Given the description of an element on the screen output the (x, y) to click on. 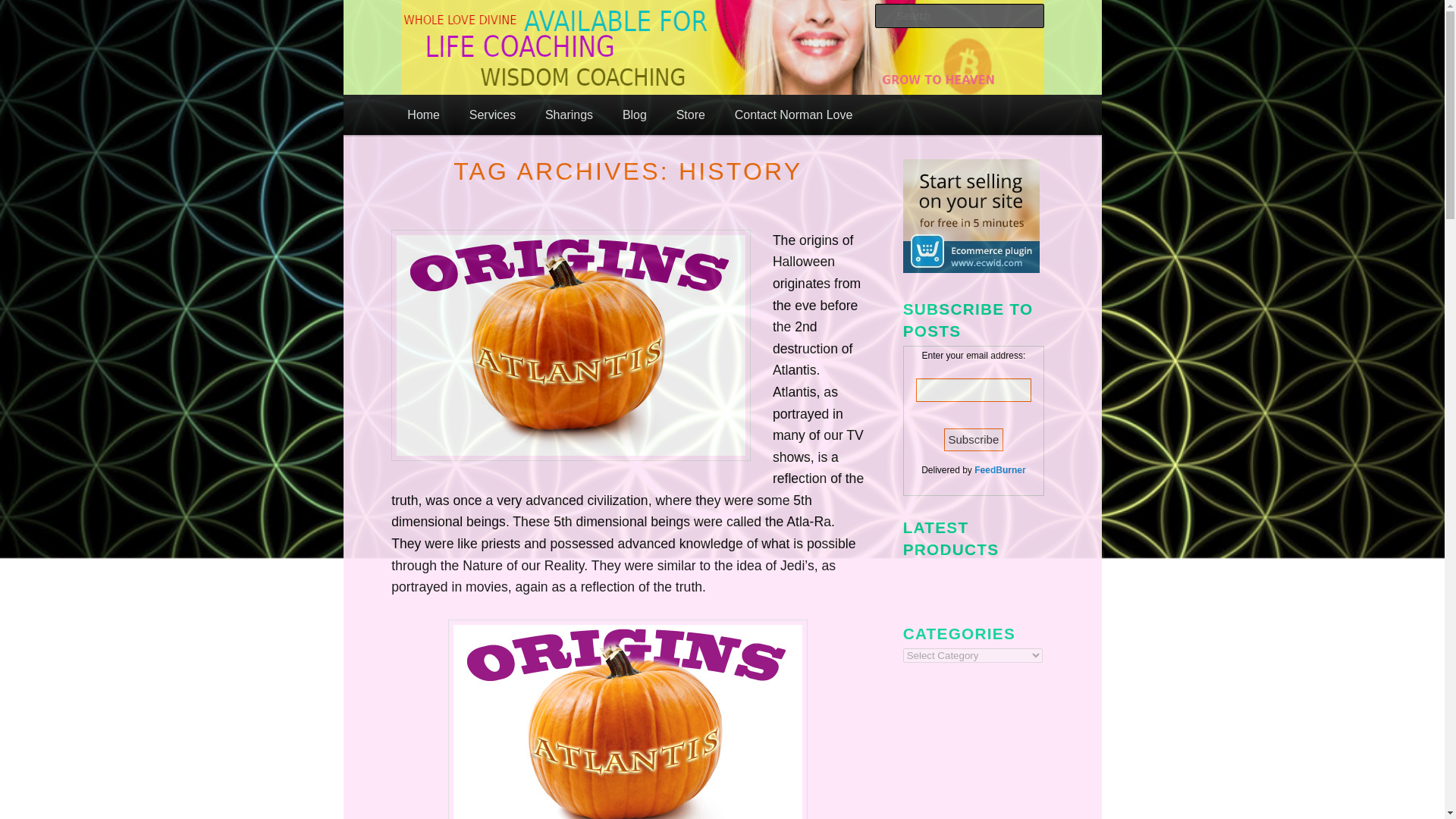
Services (491, 115)
Sharings (569, 115)
Subscribe (973, 439)
Subscribe (973, 439)
Store (690, 115)
Krystic Energy System, and Counseling Sessions (615, 163)
Blog (634, 115)
Home (423, 115)
Krystic Energy System, and Counseling Sessions (615, 163)
Contact Norman Love (792, 115)
Search (24, 8)
